Given the description of an element on the screen output the (x, y) to click on. 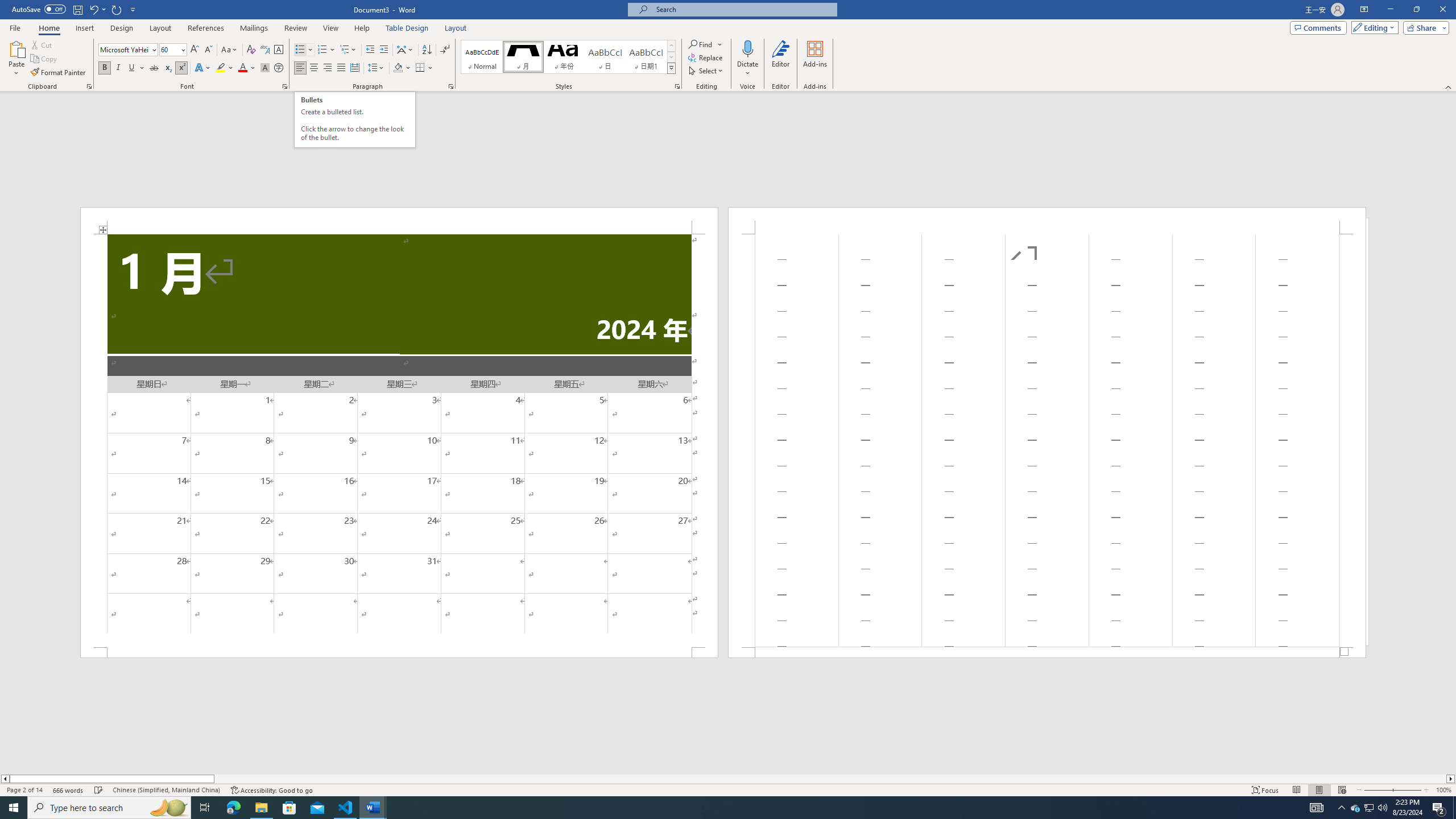
Superscript (180, 67)
Collapse the Ribbon (1448, 86)
Page right (829, 778)
Shading (402, 67)
Find (700, 44)
Design (122, 28)
Strikethrough (154, 67)
Decrease Indent (370, 49)
Mailings (253, 28)
Zoom Out (1377, 790)
Styles... (676, 85)
Home (48, 28)
References (205, 28)
